Given the description of an element on the screen output the (x, y) to click on. 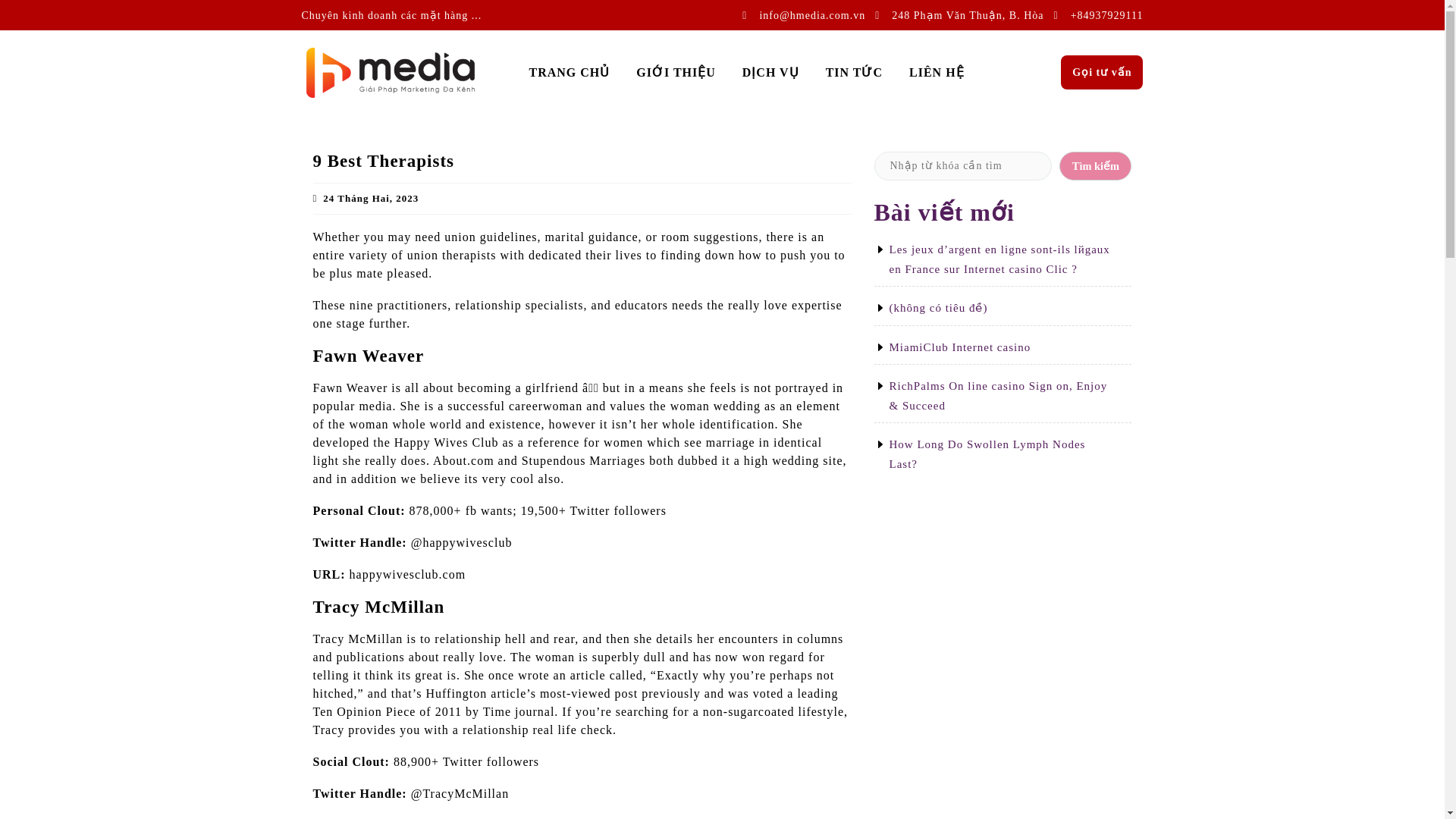
MiamiClub Internet casino (959, 346)
How Long Do Swollen Lymph Nodes Last? (986, 454)
